Given the description of an element on the screen output the (x, y) to click on. 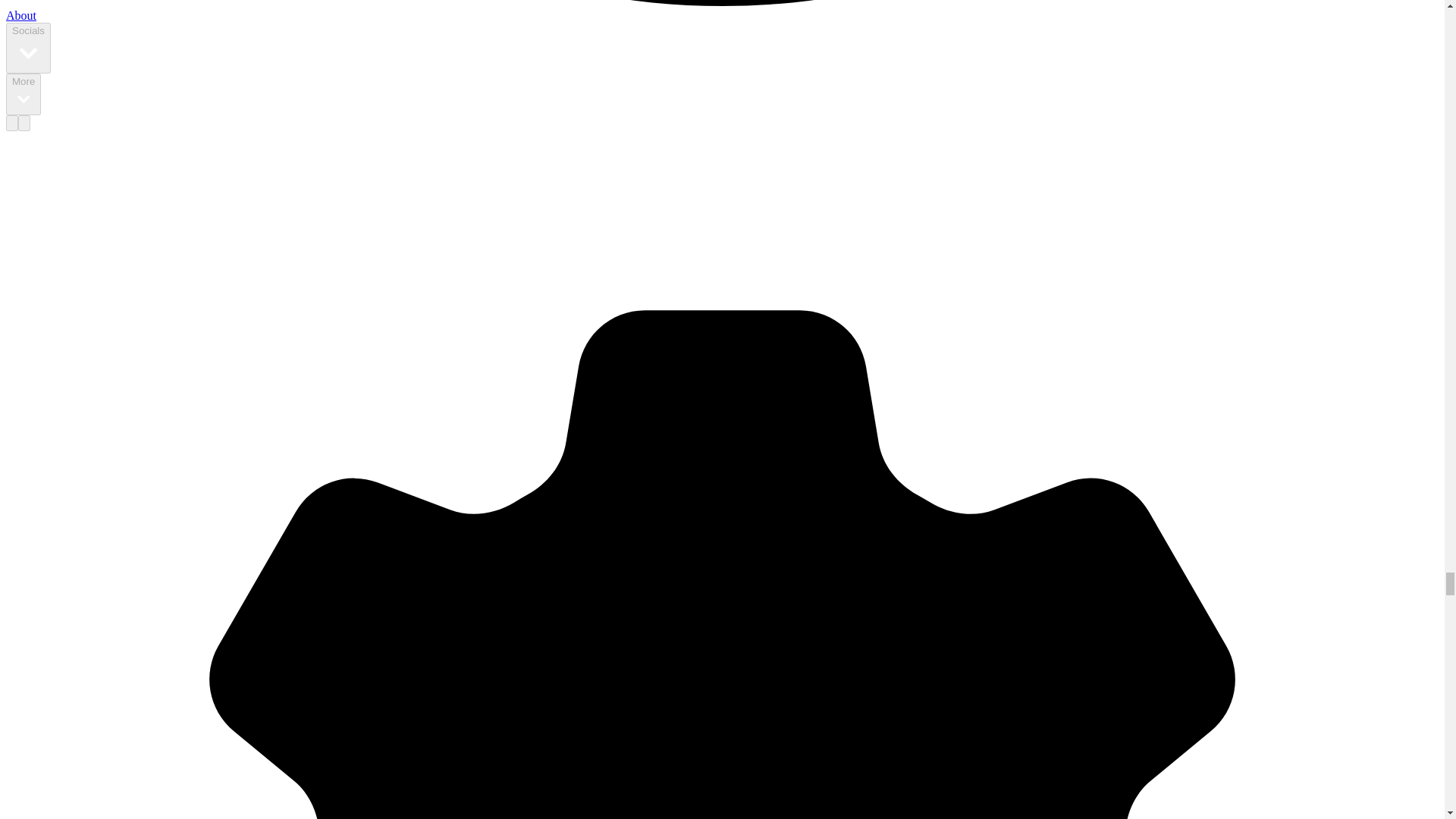
Socials (27, 47)
More (22, 93)
